Given the description of an element on the screen output the (x, y) to click on. 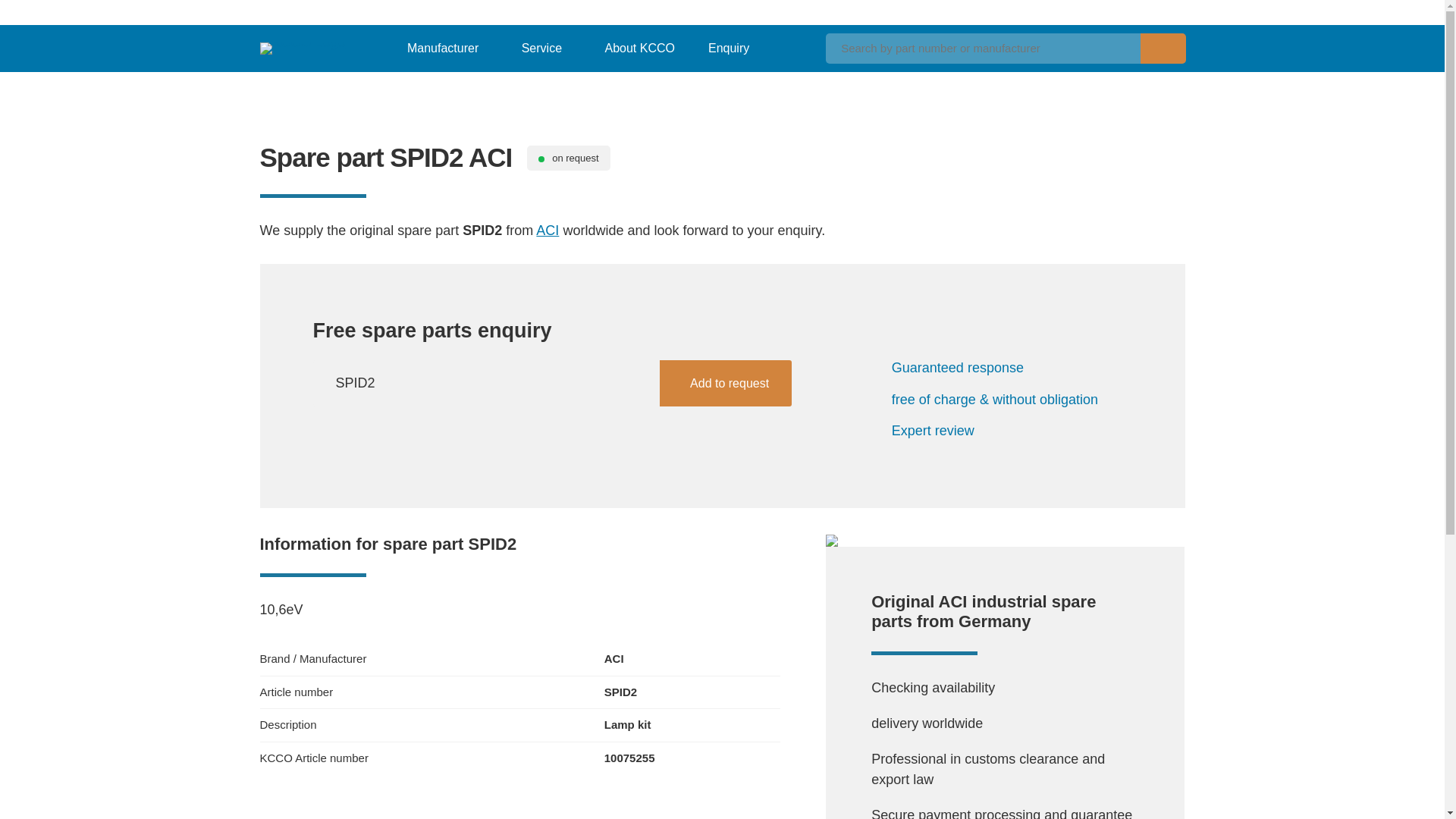
ACI (547, 230)
About KCCO (634, 47)
KCCO (302, 42)
SPID2 (548, 383)
Service (537, 47)
Add to request (725, 383)
Manufacturer (438, 47)
Enquiry (728, 47)
